Given the description of an element on the screen output the (x, y) to click on. 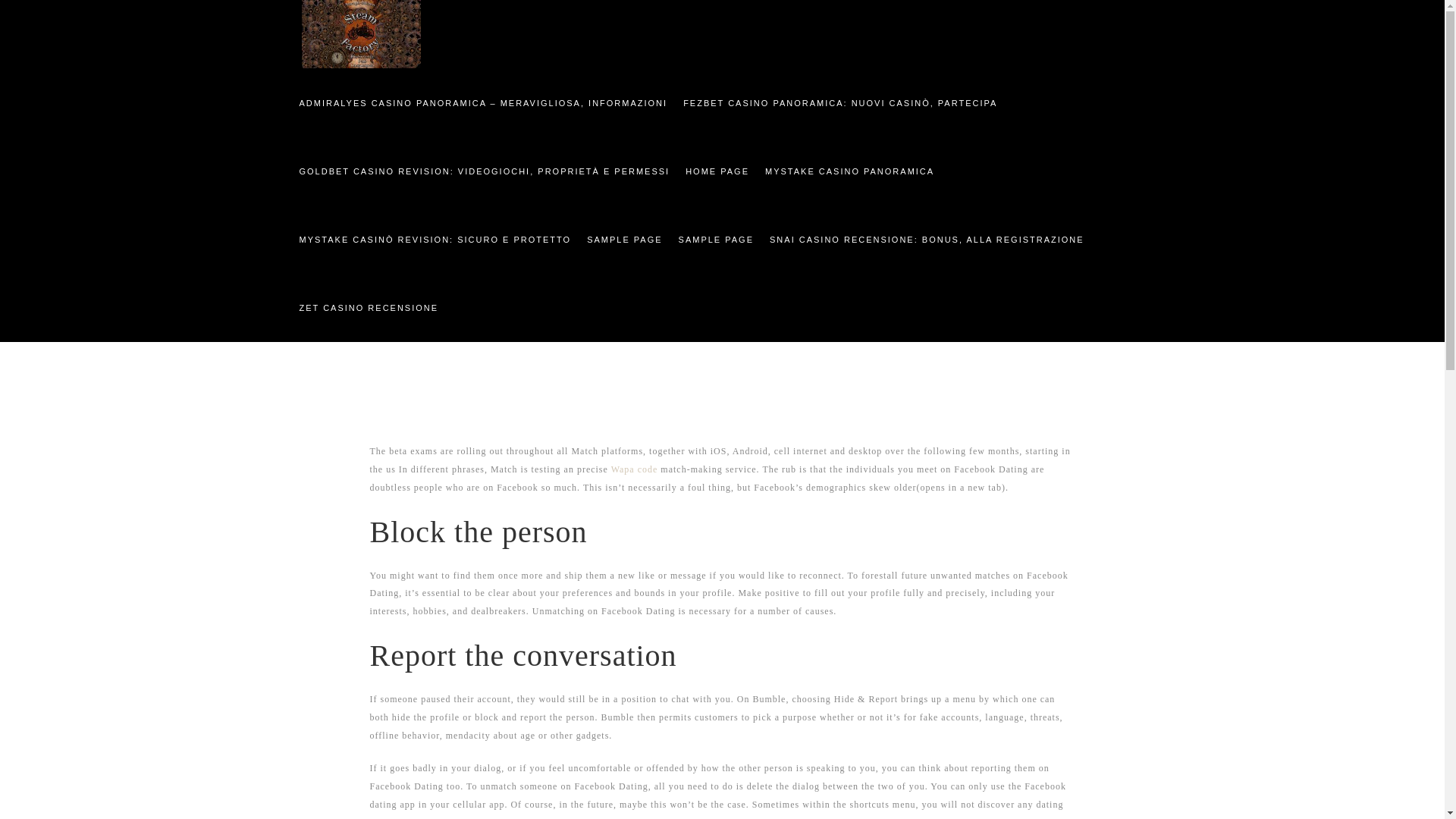
HOME PAGE (715, 170)
Wapa code (634, 469)
View all posts in Best Dating Chat (783, 257)
SAMPLE PAGE (622, 238)
Best Dating Chat (783, 257)
ZET CASINO RECENSIONE (368, 306)
MYSTAKE CASINO PANORAMICA (848, 170)
SAMPLE PAGE (714, 238)
SNAI CASINO RECENSIONE: BONUS, ALLA REGISTRAZIONE (925, 238)
